Given the description of an element on the screen output the (x, y) to click on. 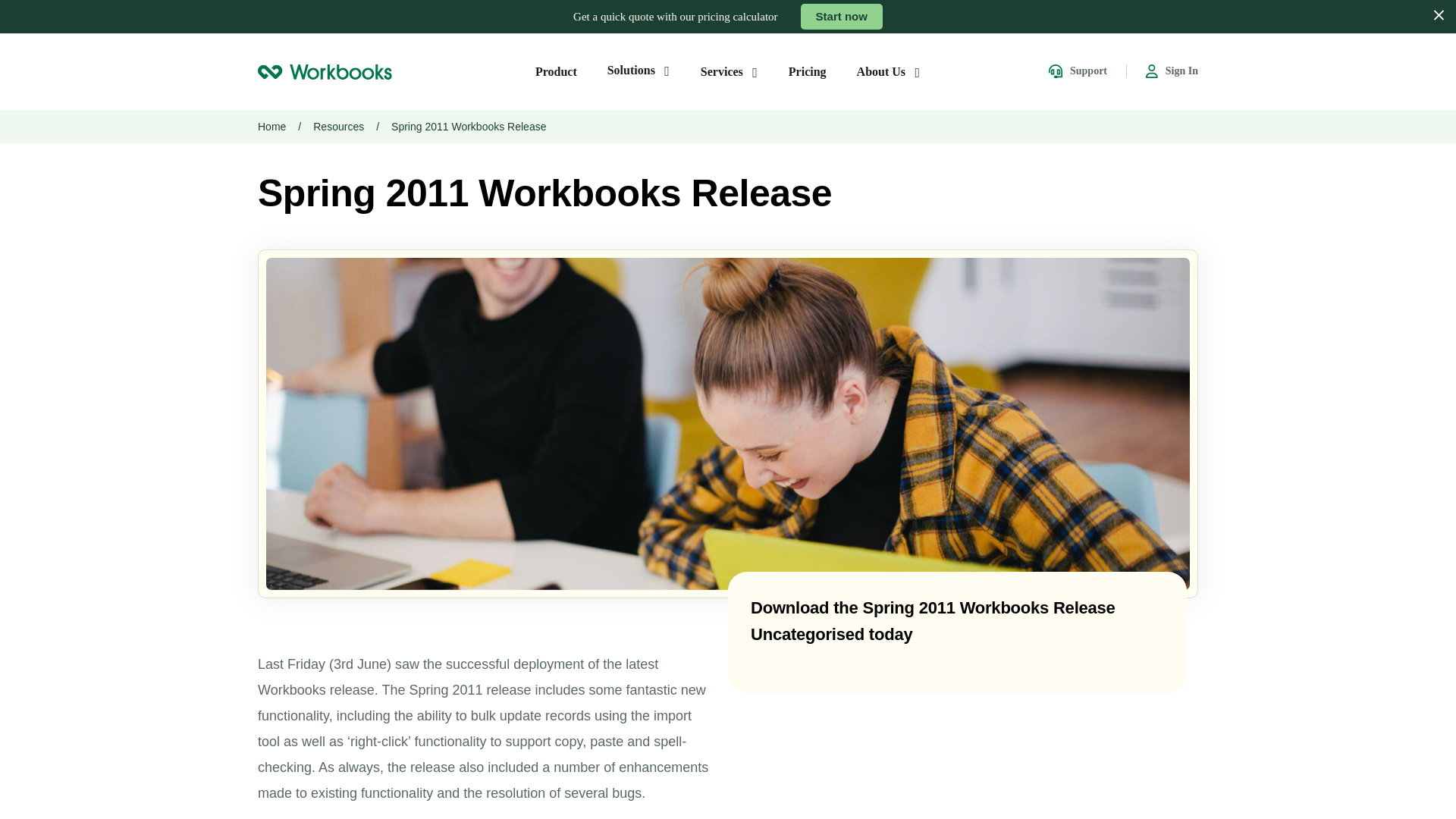
About Us (888, 71)
Product (555, 71)
Pricing (808, 71)
Solutions (638, 69)
Start now (841, 16)
Support (1077, 70)
Services (729, 71)
Sign In (1171, 70)
